Given the description of an element on the screen output the (x, y) to click on. 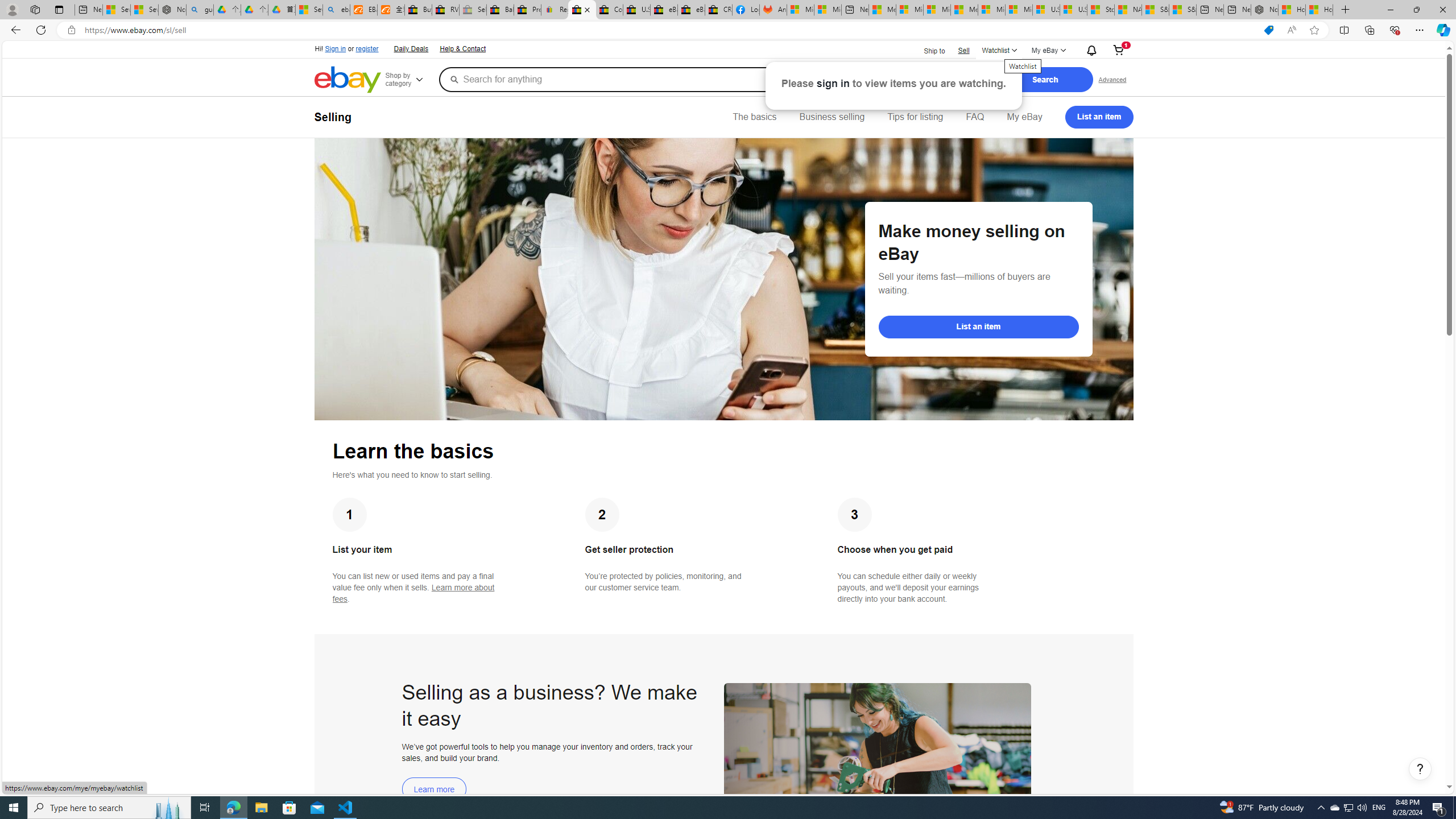
Sign in (335, 49)
FAQ (974, 116)
